Given the description of an element on the screen output the (x, y) to click on. 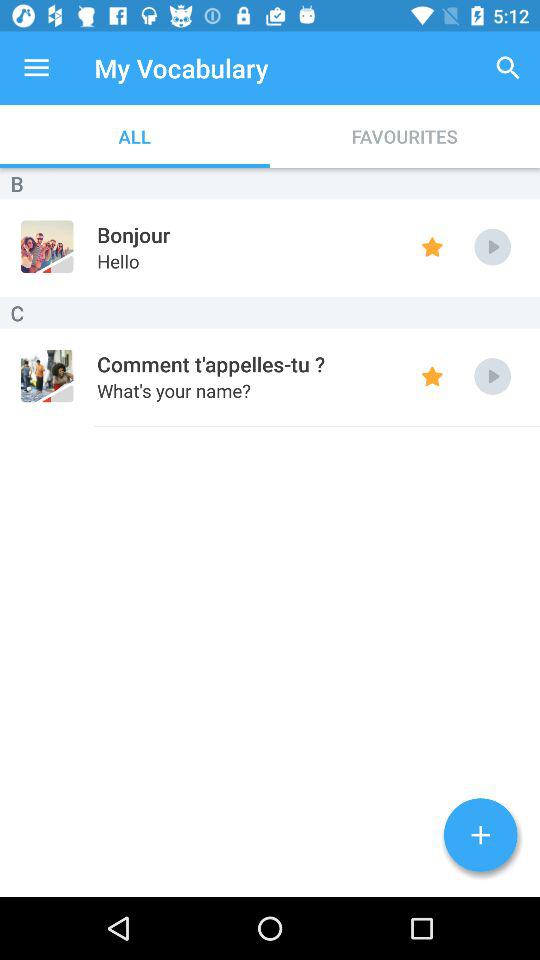
open app to the left of my vocabulary icon (36, 68)
